Given the description of an element on the screen output the (x, y) to click on. 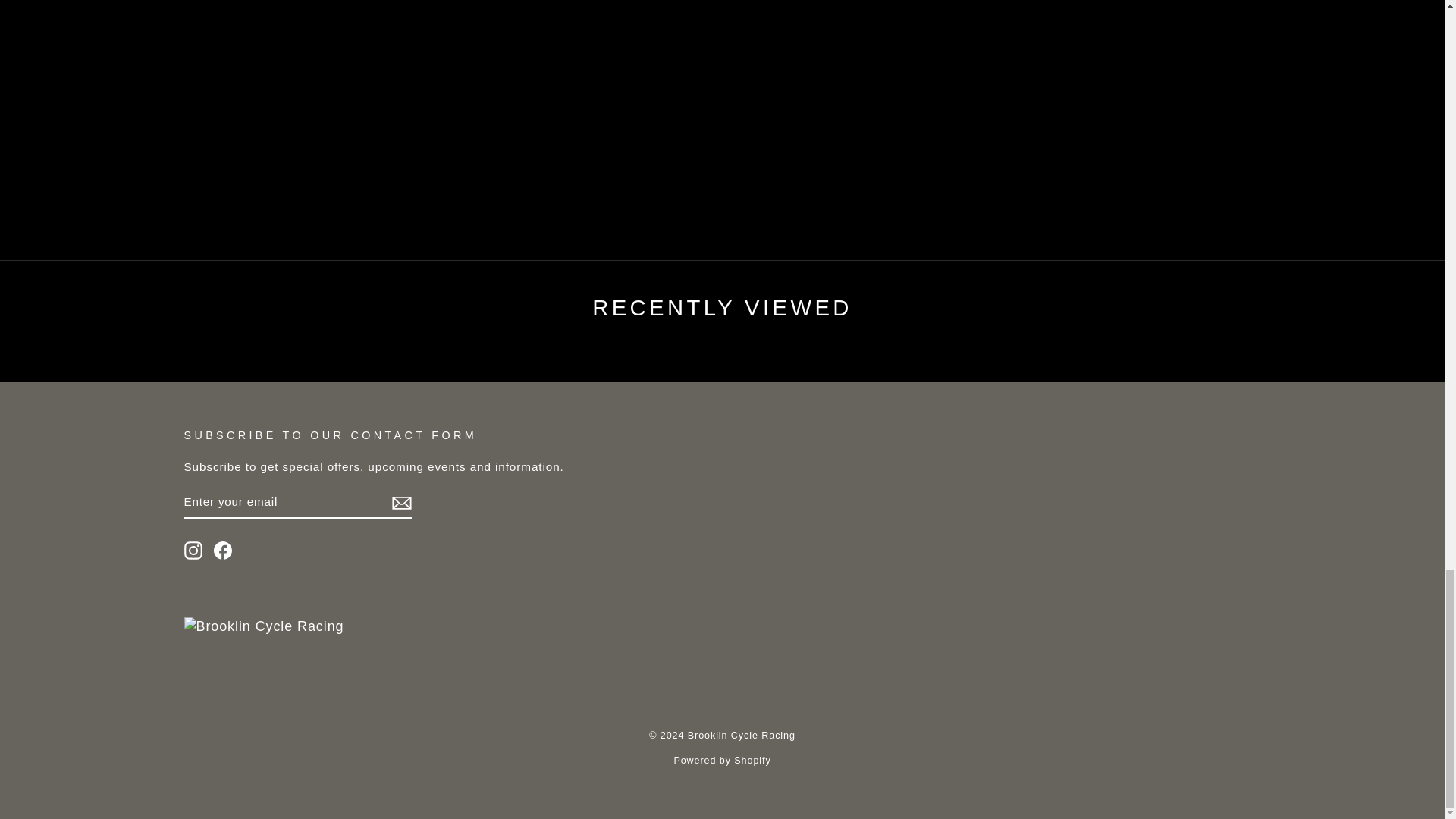
Brooklin Cycle Racing on Facebook (222, 550)
Brooklin Cycle Racing on Instagram (192, 550)
